Given the description of an element on the screen output the (x, y) to click on. 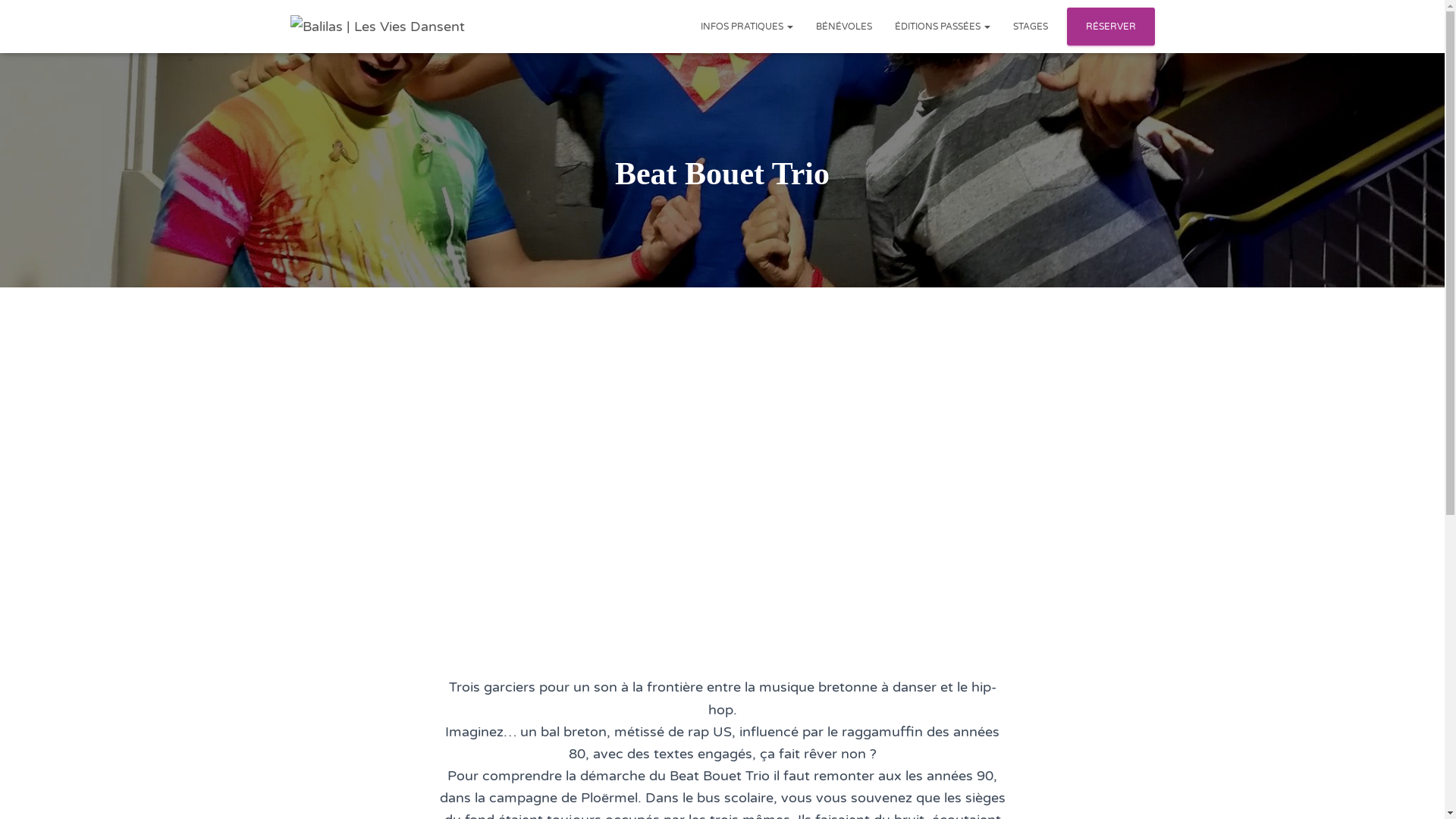
STAGES Element type: text (1029, 26)
INFOS PRATIQUES Element type: text (745, 26)
Balilas | Les Vies Dansent Element type: hover (377, 26)
